Given the description of an element on the screen output the (x, y) to click on. 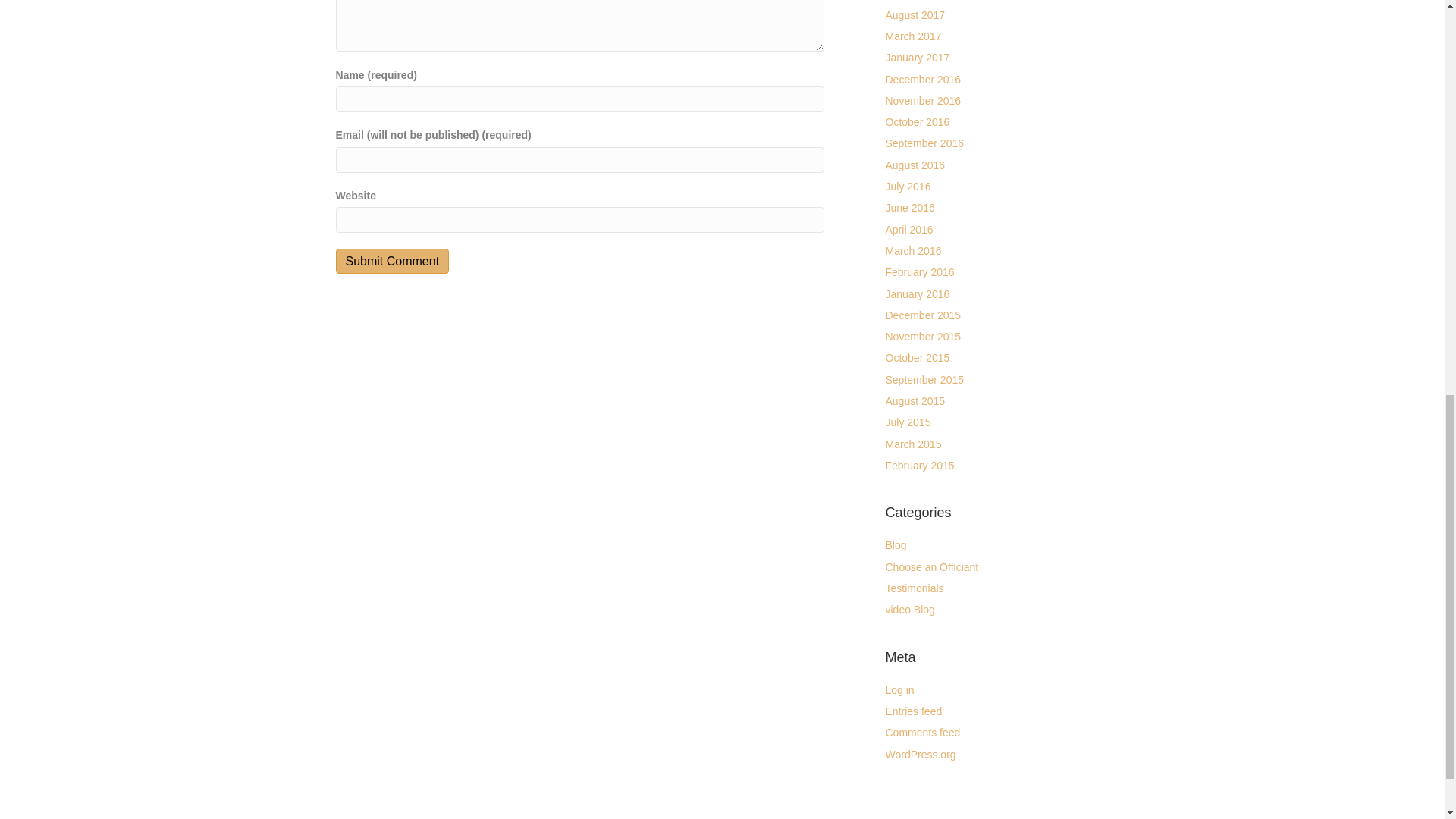
Submit Comment (391, 260)
Submit Comment (391, 260)
